Given the description of an element on the screen output the (x, y) to click on. 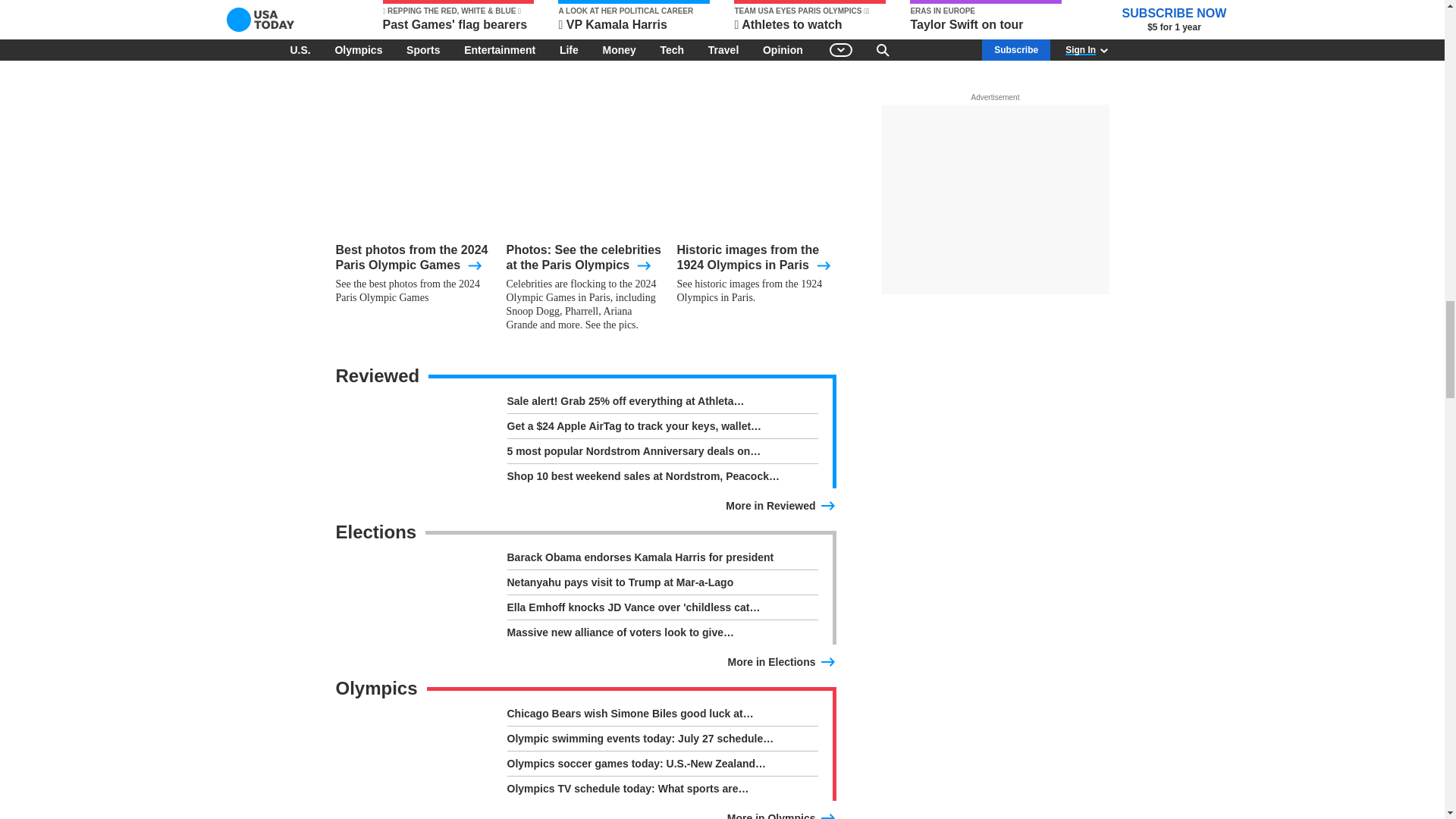
Chicago Bears wish Simone Biles good luck at Paris Olympics (661, 716)
Shop 10 best weekend sales at Nordstrom, Peacock, Fanatics (661, 476)
